Given the description of an element on the screen output the (x, y) to click on. 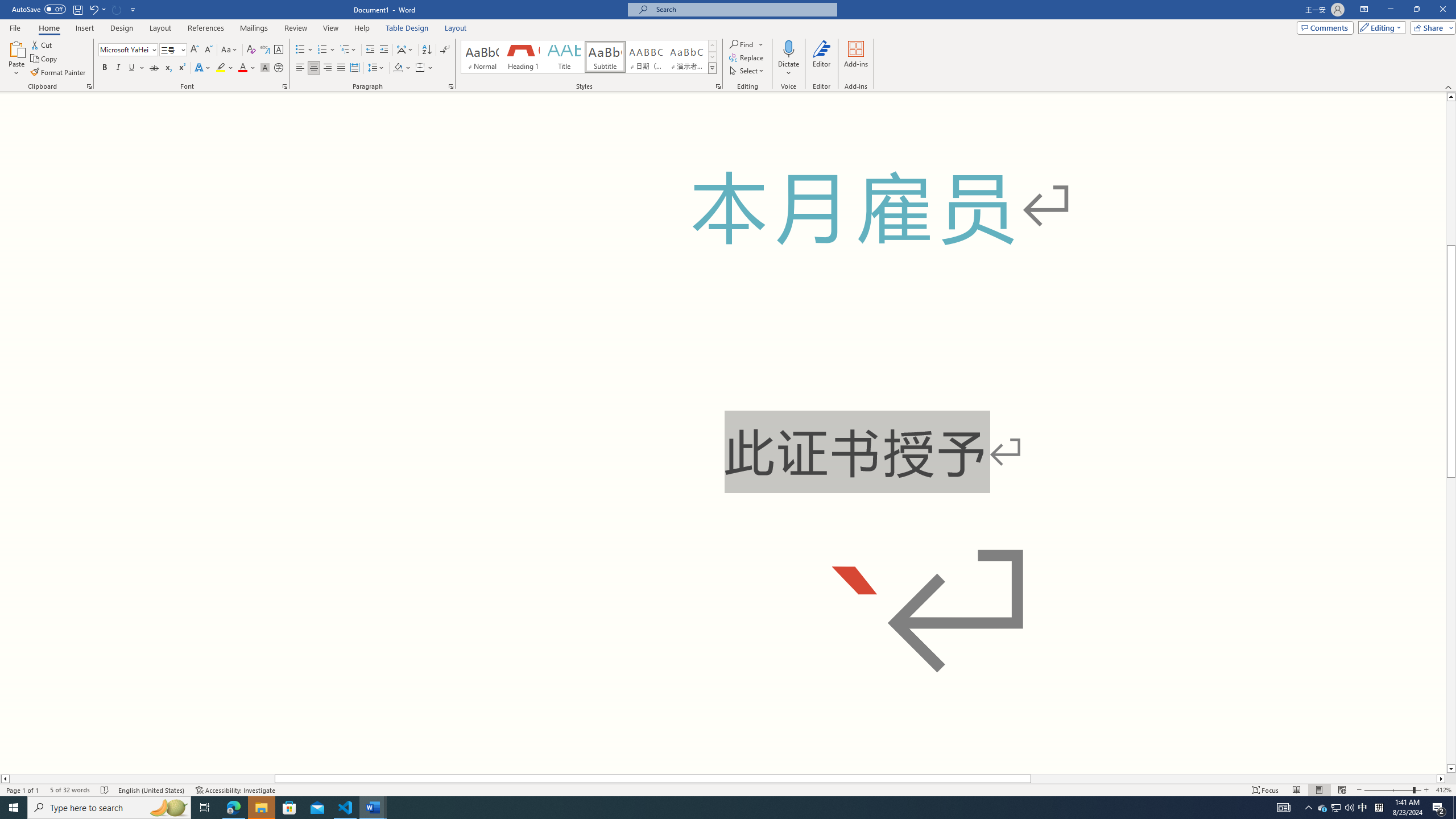
Bullets (300, 49)
Customize Quick Access Toolbar (133, 9)
Underline (136, 67)
Select (747, 69)
Line and Paragraph Spacing (376, 67)
Justify (340, 67)
Paste (16, 58)
Find (742, 44)
Phonetic Guide... (264, 49)
Decrease Indent (370, 49)
Bullets (304, 49)
Save (77, 9)
File Tab (15, 27)
Dictate (788, 48)
